Given the description of an element on the screen output the (x, y) to click on. 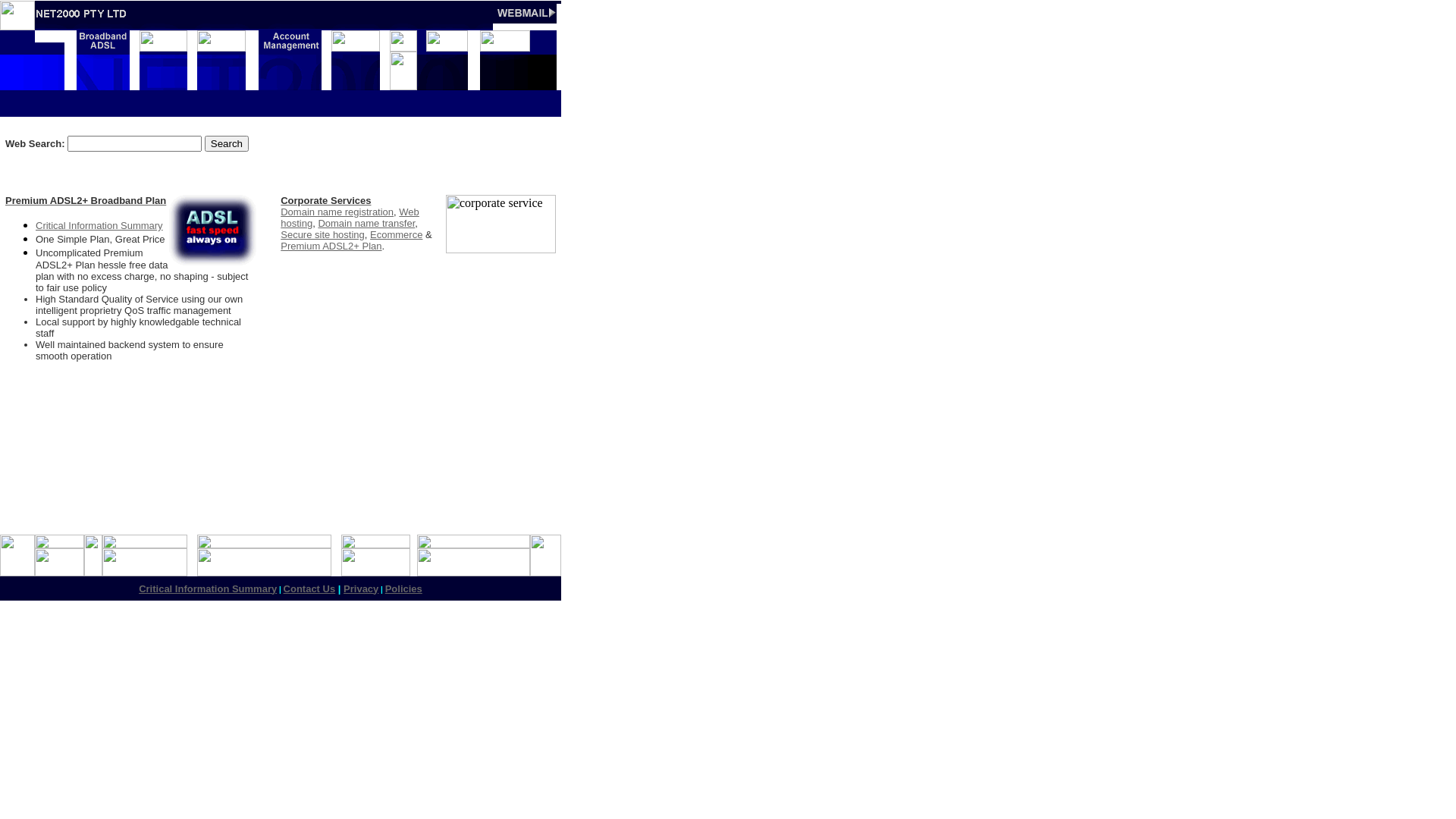
Corporate Services Element type: text (325, 199)
Contact Us Element type: text (309, 589)
Premium ADSL2+ Broadband Plan Element type: text (85, 199)
Ecommerce Element type: text (396, 234)
Domain name registration Element type: text (336, 211)
Search Element type: text (226, 143)
Premium ADSL2+ Plan Element type: text (330, 245)
Domain name transfer Element type: text (365, 223)
Policies Element type: text (403, 587)
Secure site hosting Element type: text (322, 234)
Critical Information Summary Element type: text (99, 225)
Web hosting Element type: text (349, 217)
Critical Information Summary Element type: text (207, 589)
Privacy Element type: text (360, 587)
